Given the description of an element on the screen output the (x, y) to click on. 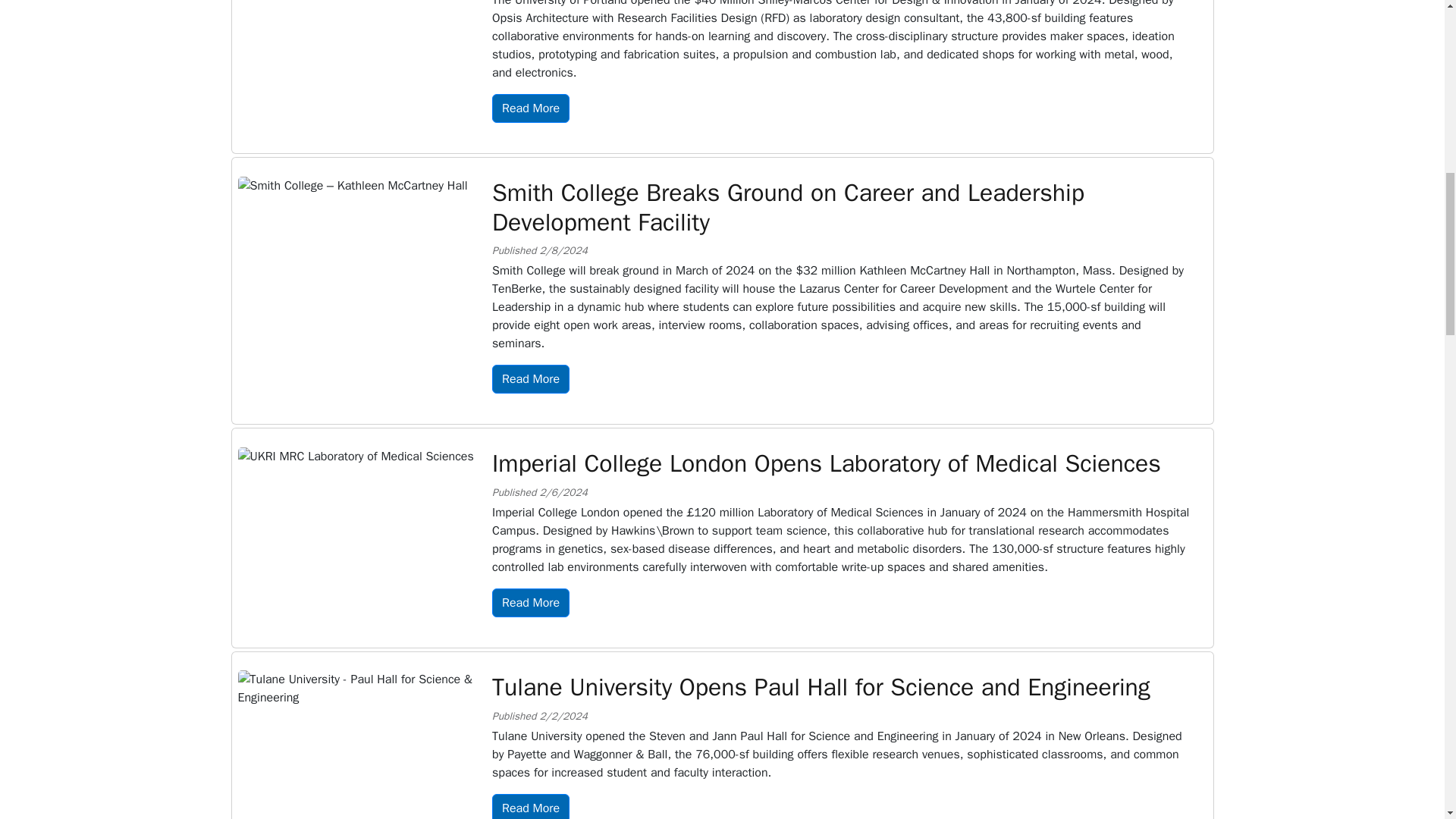
Read More (530, 806)
Read More (530, 108)
Imperial College London Opens Laboratory of Medical Sciences (826, 463)
Read More (530, 602)
Read More (530, 378)
